Given the description of an element on the screen output the (x, y) to click on. 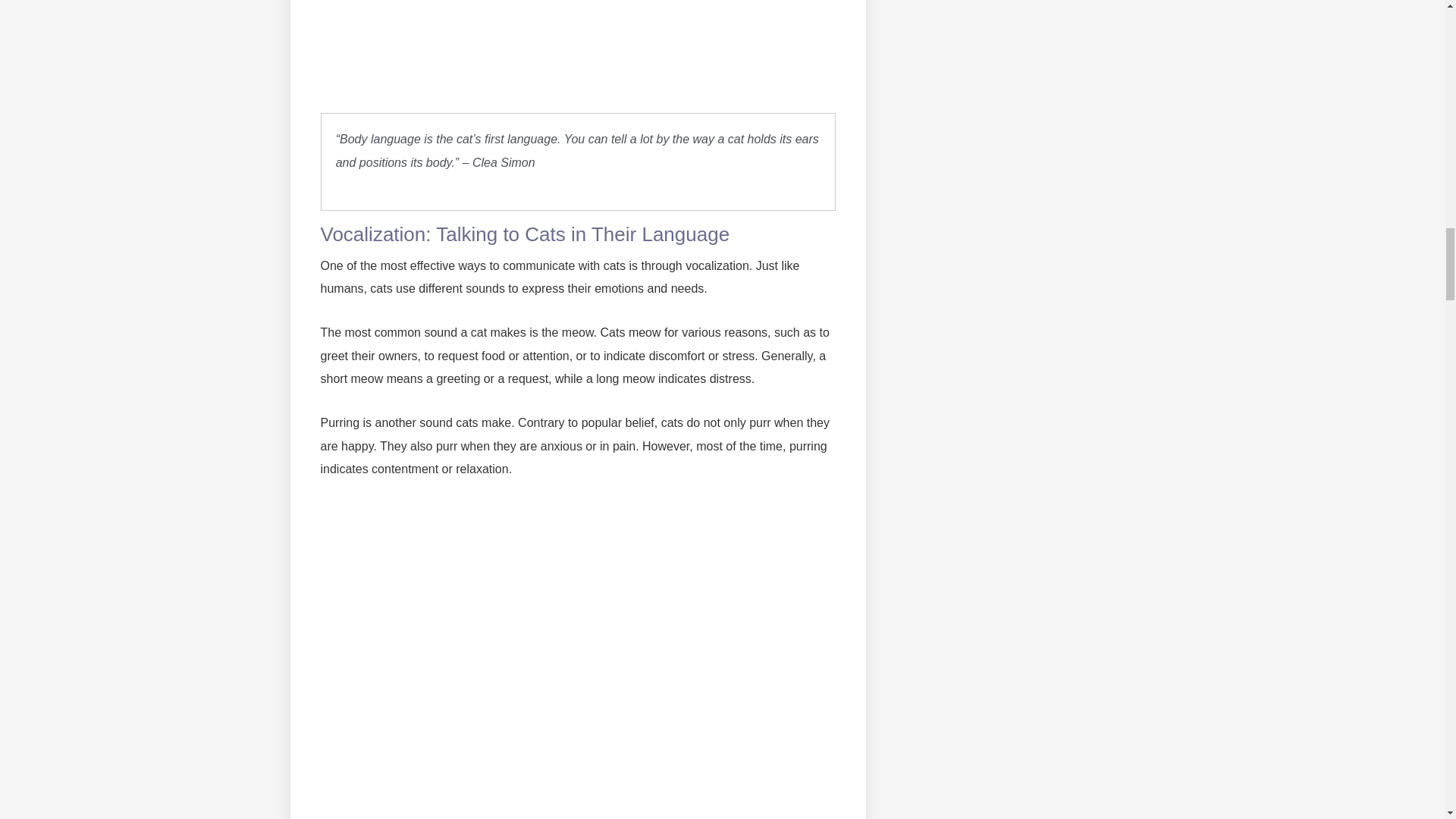
cat body language (577, 45)
